Given the description of an element on the screen output the (x, y) to click on. 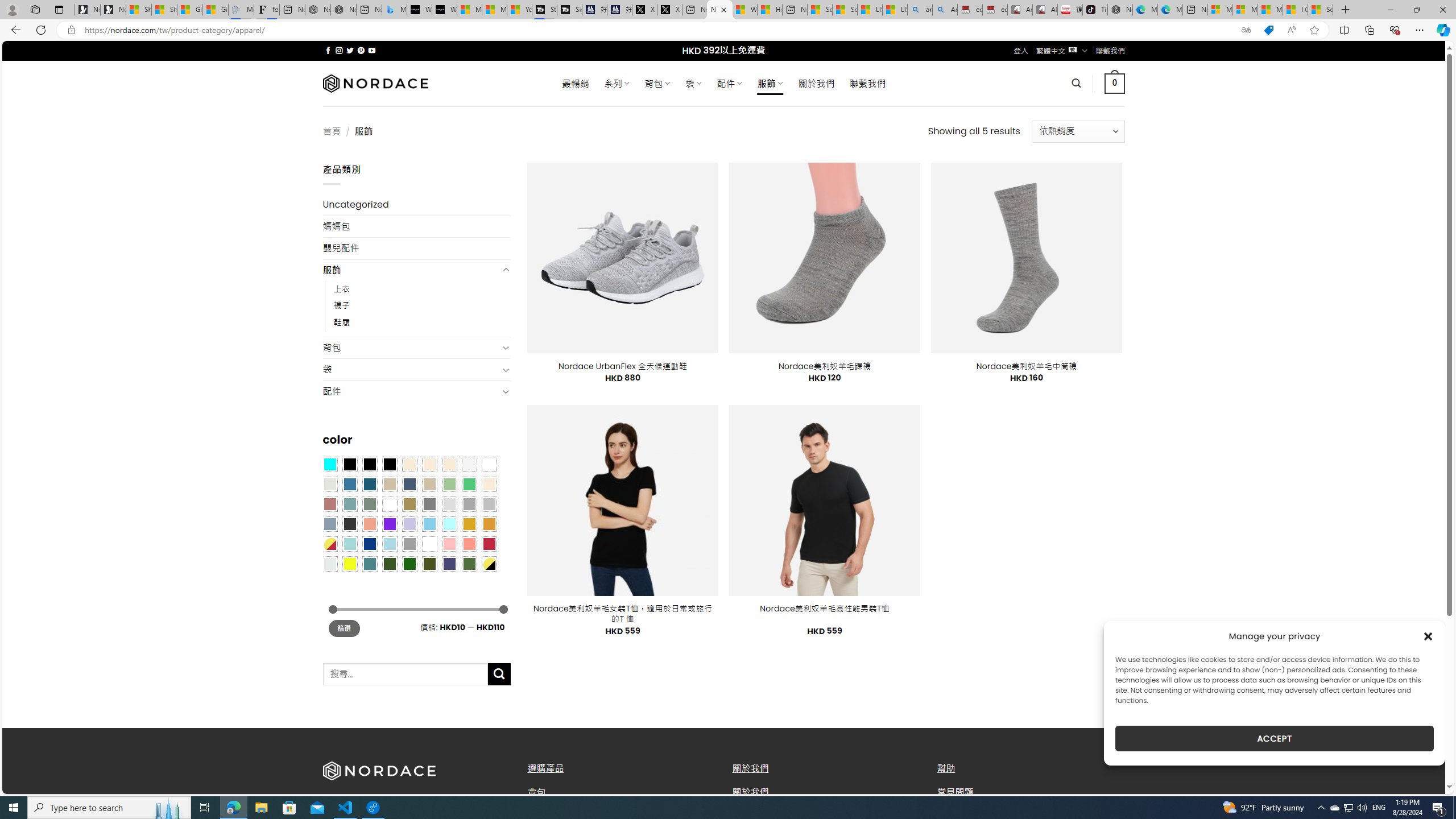
Show translate options (1245, 29)
Dull Nickle (329, 563)
